Given the description of an element on the screen output the (x, y) to click on. 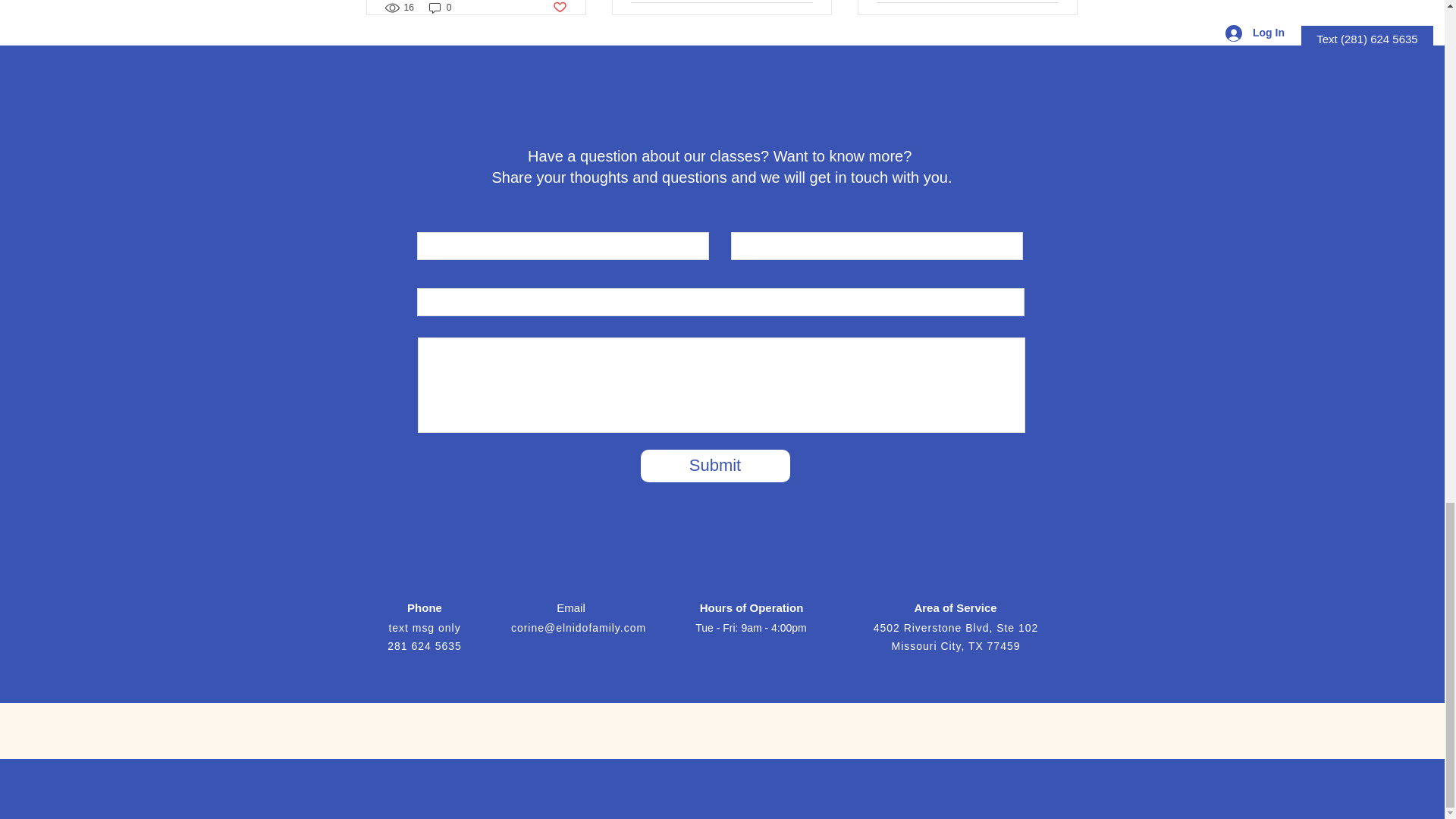
0 (440, 7)
Submit (714, 465)
Post not marked as liked (558, 7)
Post not marked as liked (804, 20)
Post not marked as liked (1050, 20)
